Given the description of an element on the screen output the (x, y) to click on. 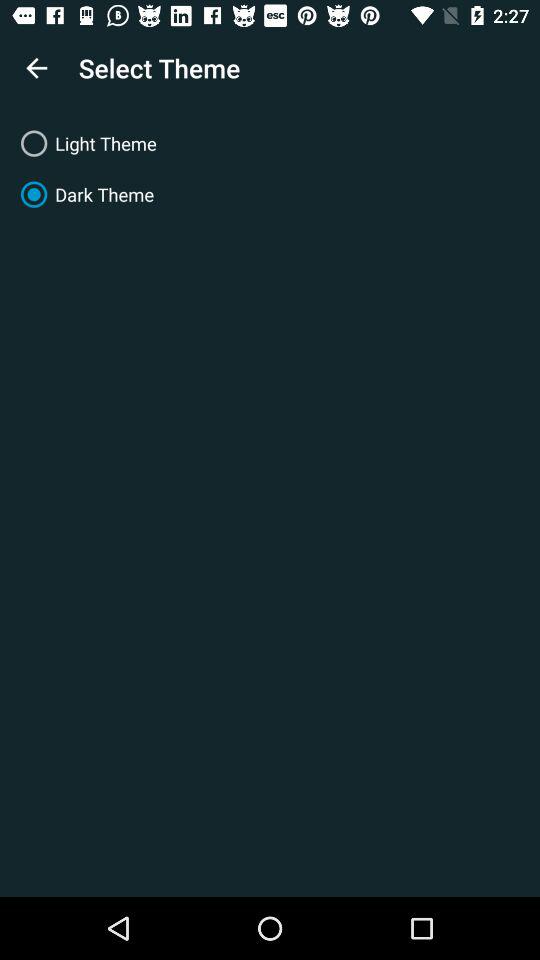
turn on the app to the left of the select theme item (36, 68)
